Given the description of an element on the screen output the (x, y) to click on. 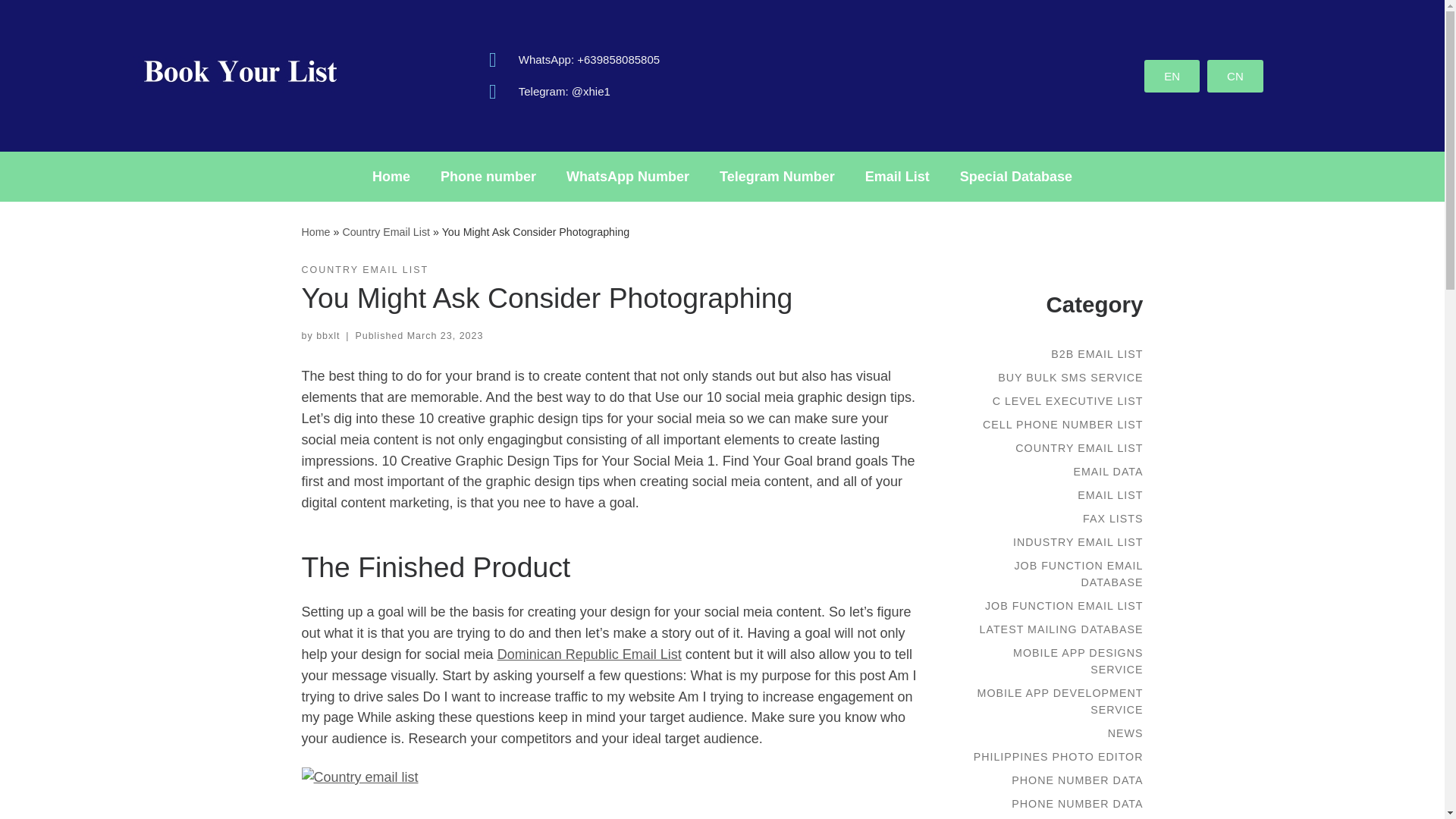
EN (1171, 74)
COUNTRY EMAIL LIST (365, 269)
Special Database (1015, 176)
Home (390, 176)
Dominican Republic Email List (589, 654)
Country Email List (385, 232)
View all posts in Country Email List (365, 269)
9:44 am (445, 335)
Telegram Number (777, 176)
Country Email List (385, 232)
View all posts by bbxlt (327, 335)
CN (1235, 74)
Email List (897, 176)
bbxlt (327, 335)
Phone number (488, 176)
